Given the description of an element on the screen output the (x, y) to click on. 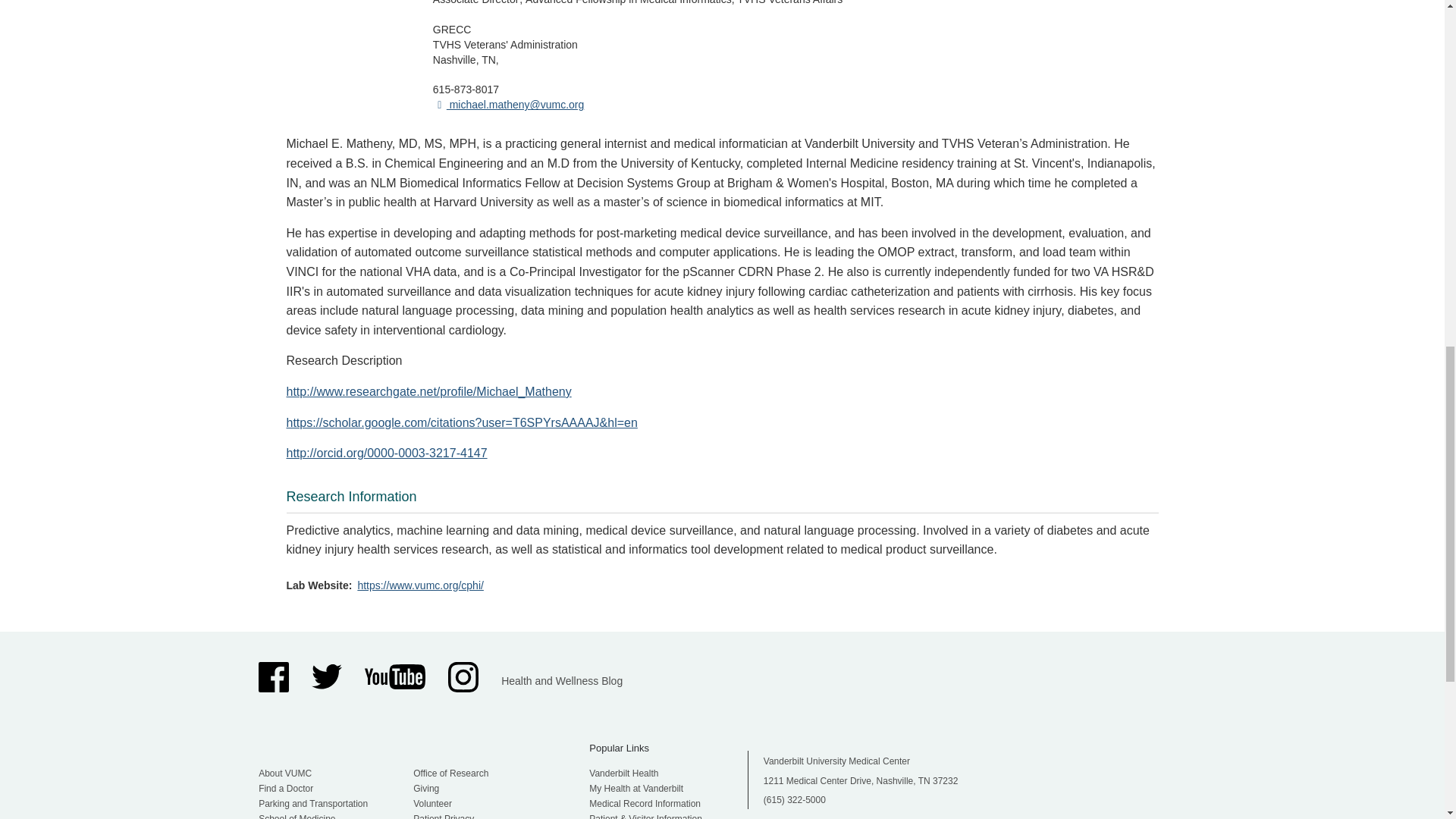
facebook icon (273, 676)
youtube icon (395, 676)
instagram icon (463, 676)
twitter icon (326, 676)
